Given the description of an element on the screen output the (x, y) to click on. 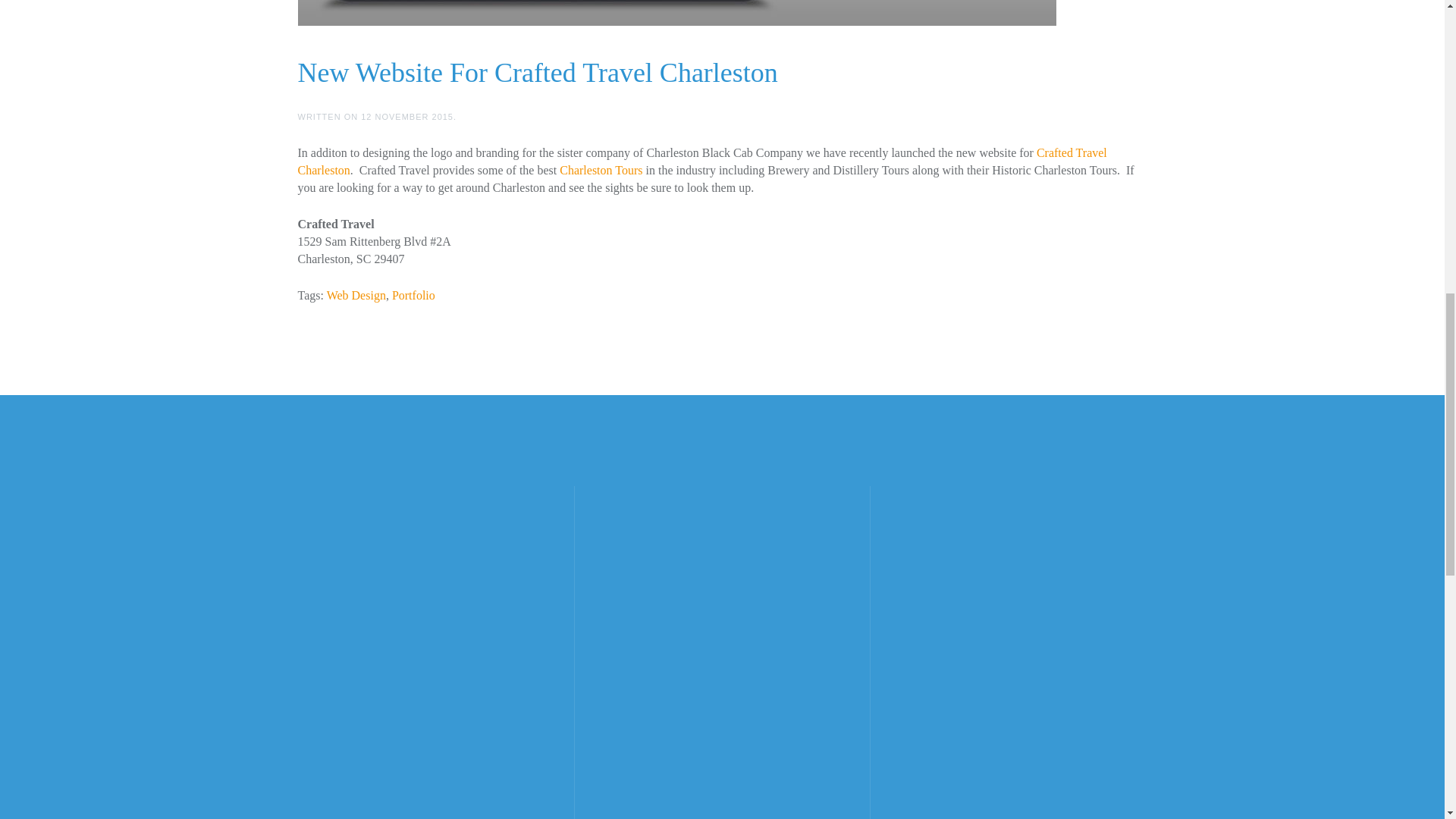
Portfolio (413, 295)
Charleston Tours (600, 169)
Web Design (355, 295)
Crafted Travel Charleston (701, 161)
Charleston Tours (600, 169)
Crafted Travel Charleston (701, 161)
